Given the description of an element on the screen output the (x, y) to click on. 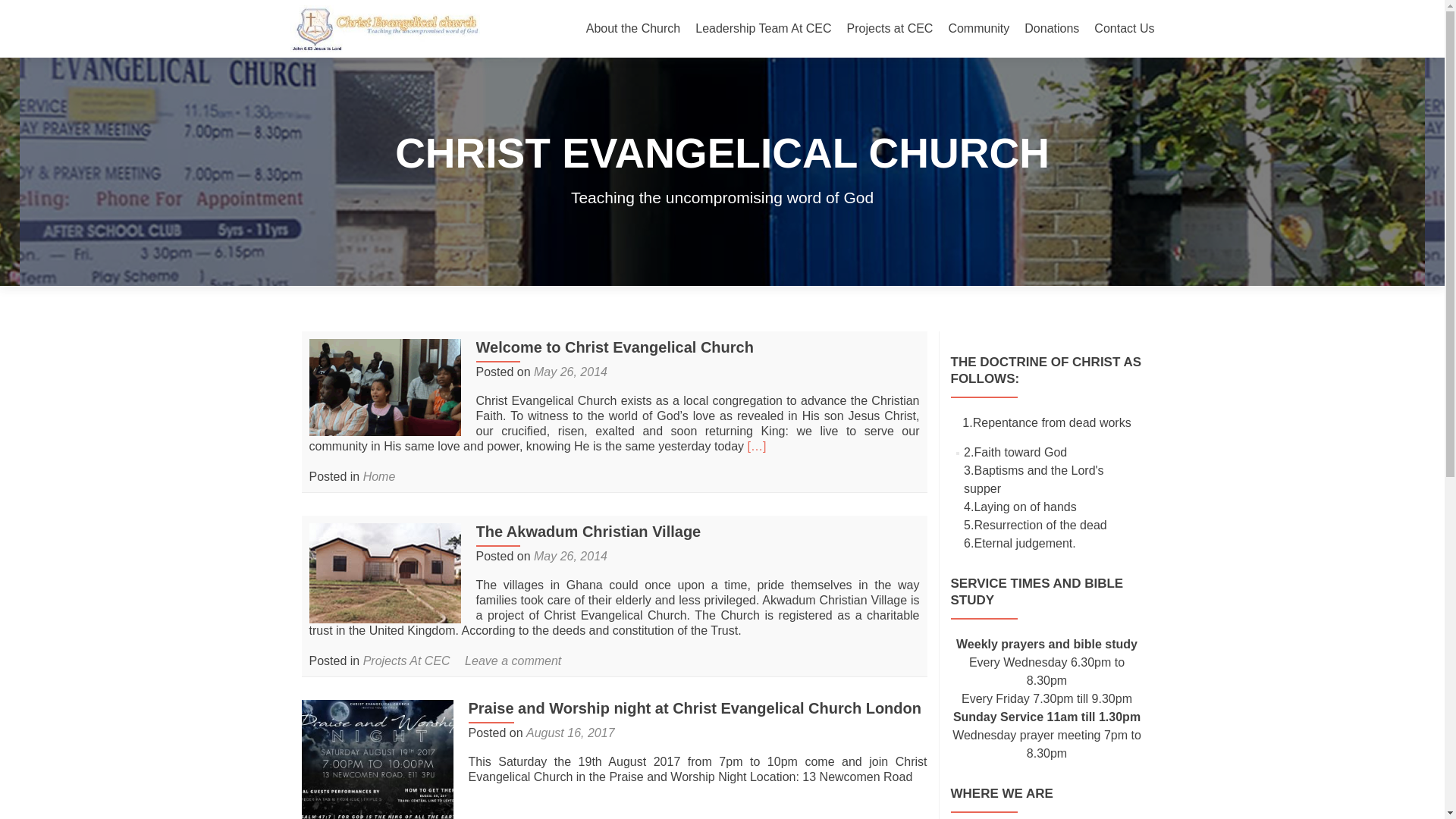
Leave a comment (512, 659)
Projects at CEC (890, 28)
The Akwadum Christian Village (384, 571)
Donations (1051, 28)
May 26, 2014 (570, 554)
Projects At CEC (405, 659)
August 16, 2017 (569, 732)
Leadership Team At CEC (763, 28)
Praise and Worship night at Christ Evangelical Church London (694, 707)
Community (978, 28)
